Given the description of an element on the screen output the (x, y) to click on. 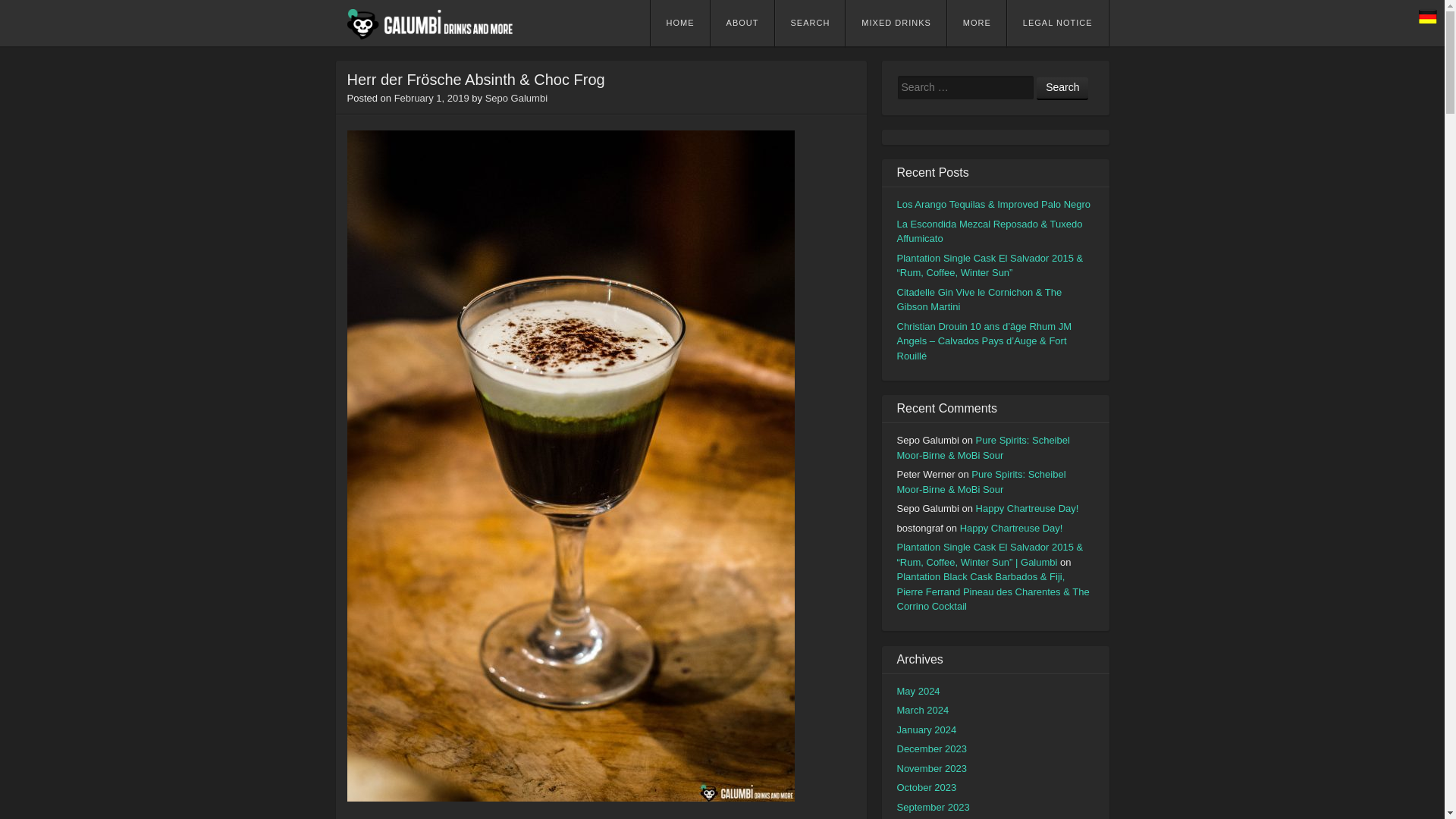
SEARCH (809, 22)
February 1, 2019 (431, 98)
Sepo Galumbi (515, 98)
German  (1427, 16)
HOME (680, 22)
Happy Chartreuse Day! (1026, 508)
May 2024 (917, 690)
Search (1061, 87)
ABOUT (742, 22)
MIXED DRINKS (894, 22)
View all posts by Sepo Galumbi (515, 98)
Search (1061, 87)
December 2023 (931, 748)
10:19 am (431, 98)
Skip to content (700, 24)
